Given the description of an element on the screen output the (x, y) to click on. 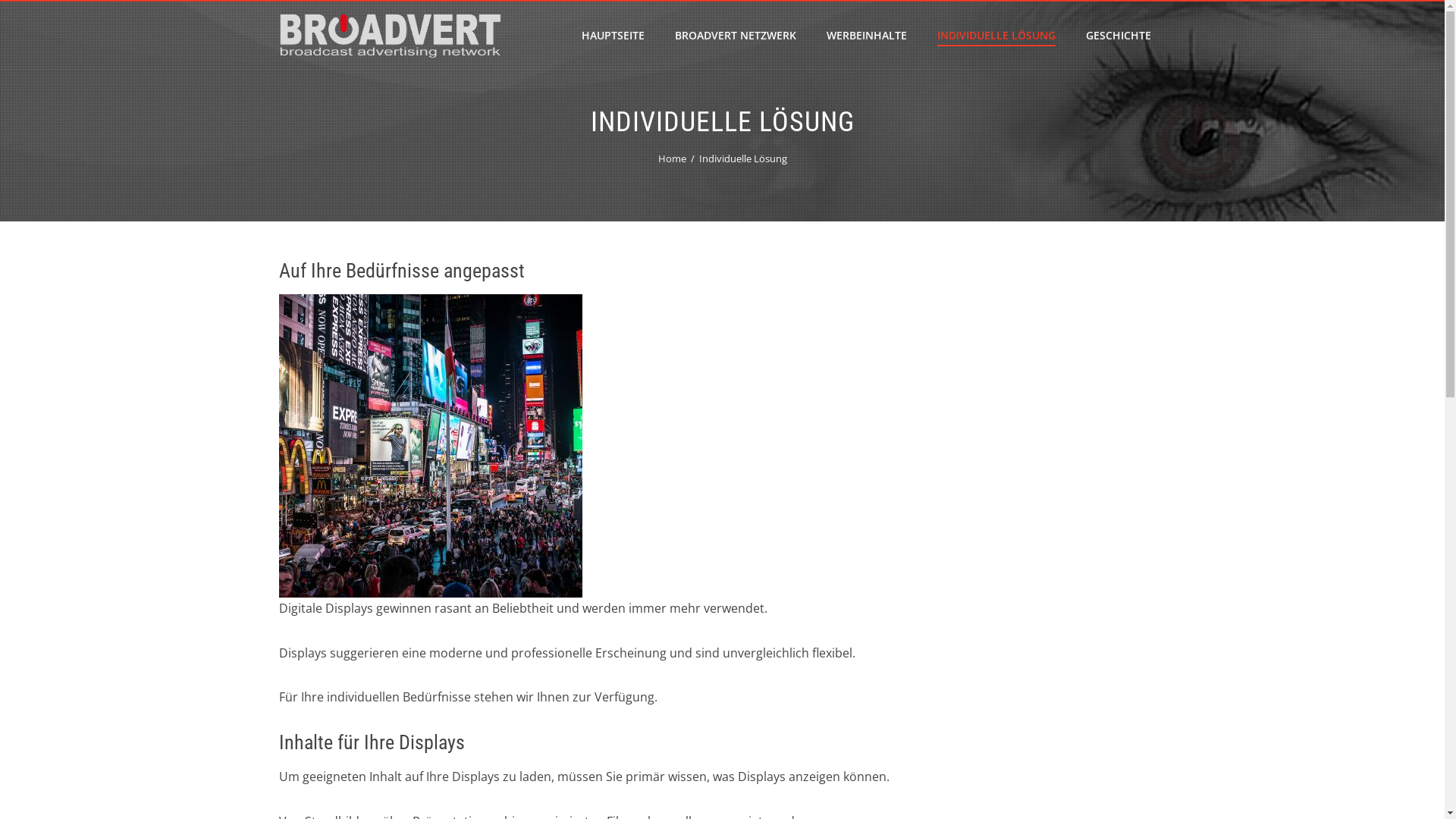
HAUPTSEITE Element type: text (611, 35)
GESCHICHTE Element type: text (1118, 35)
BROADVERT NETZWERK Element type: text (735, 35)
WERBEINHALTE Element type: text (866, 35)
Home Element type: text (672, 158)
